Given the description of an element on the screen output the (x, y) to click on. 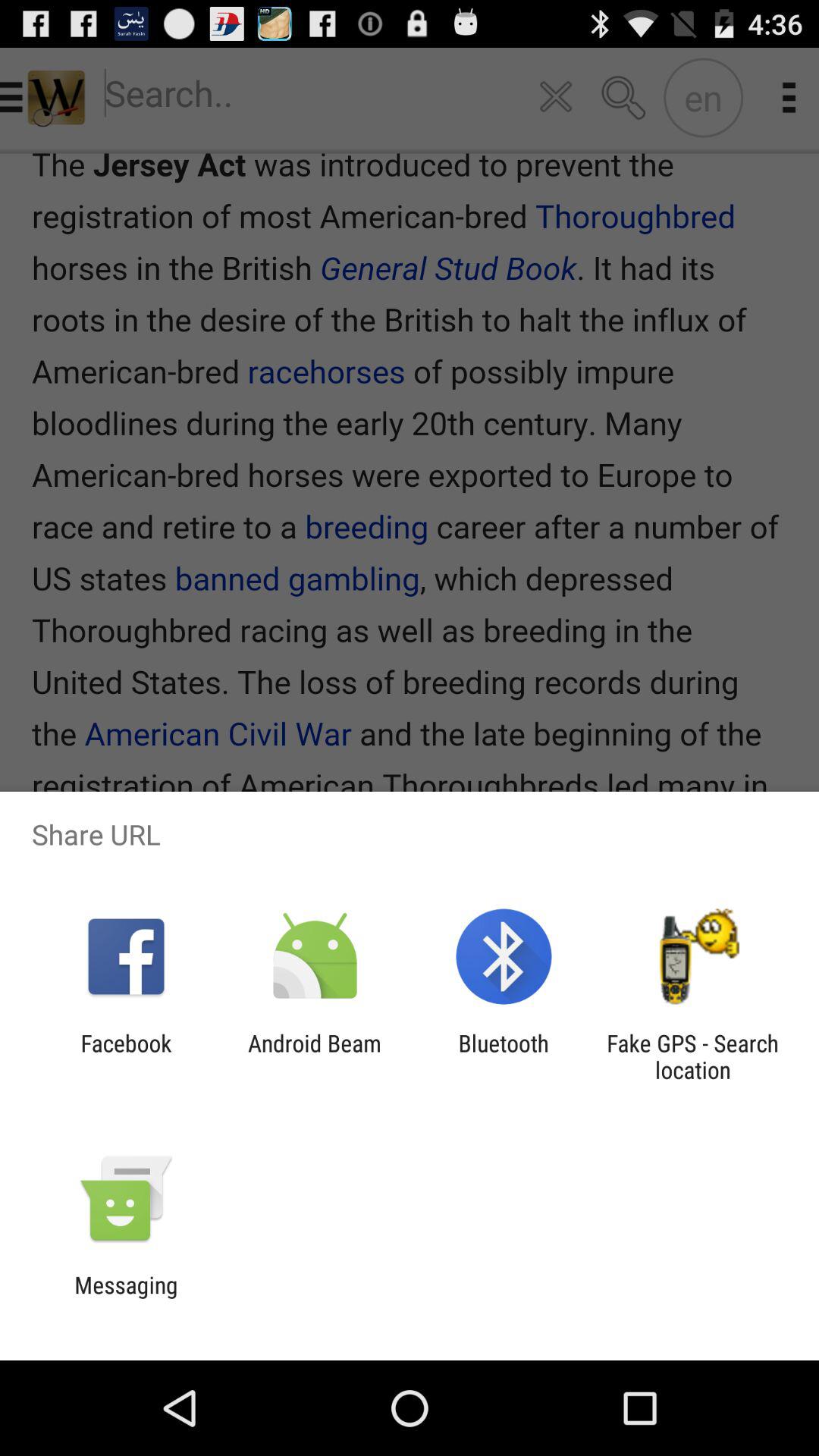
flip until the messaging item (126, 1298)
